Given the description of an element on the screen output the (x, y) to click on. 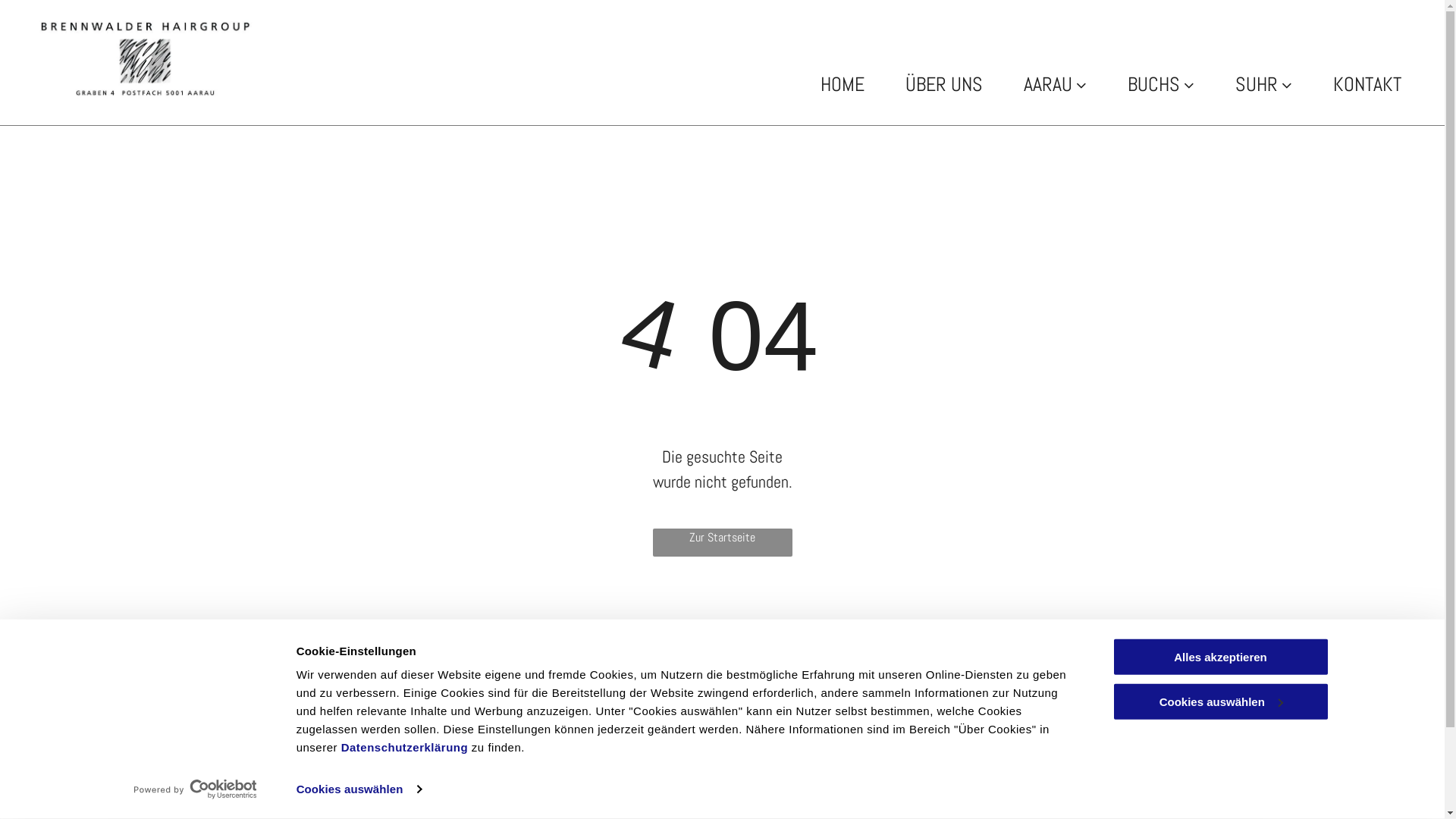
SUHR Element type: text (1263, 84)
Alles akzeptieren Element type: text (1219, 656)
Zur Startseite Element type: text (721, 542)
062 824 76 76 Element type: text (424, 774)
AARAU Element type: text (1054, 84)
KONTAKT Element type: text (1367, 84)
Impressum Element type: text (1404, 665)
HOME Element type: text (842, 84)
BUCHS Element type: text (1160, 84)
062 842 92 82 Element type: text (665, 774)
062 822 44 55 Element type: text (183, 774)
